Given the description of an element on the screen output the (x, y) to click on. 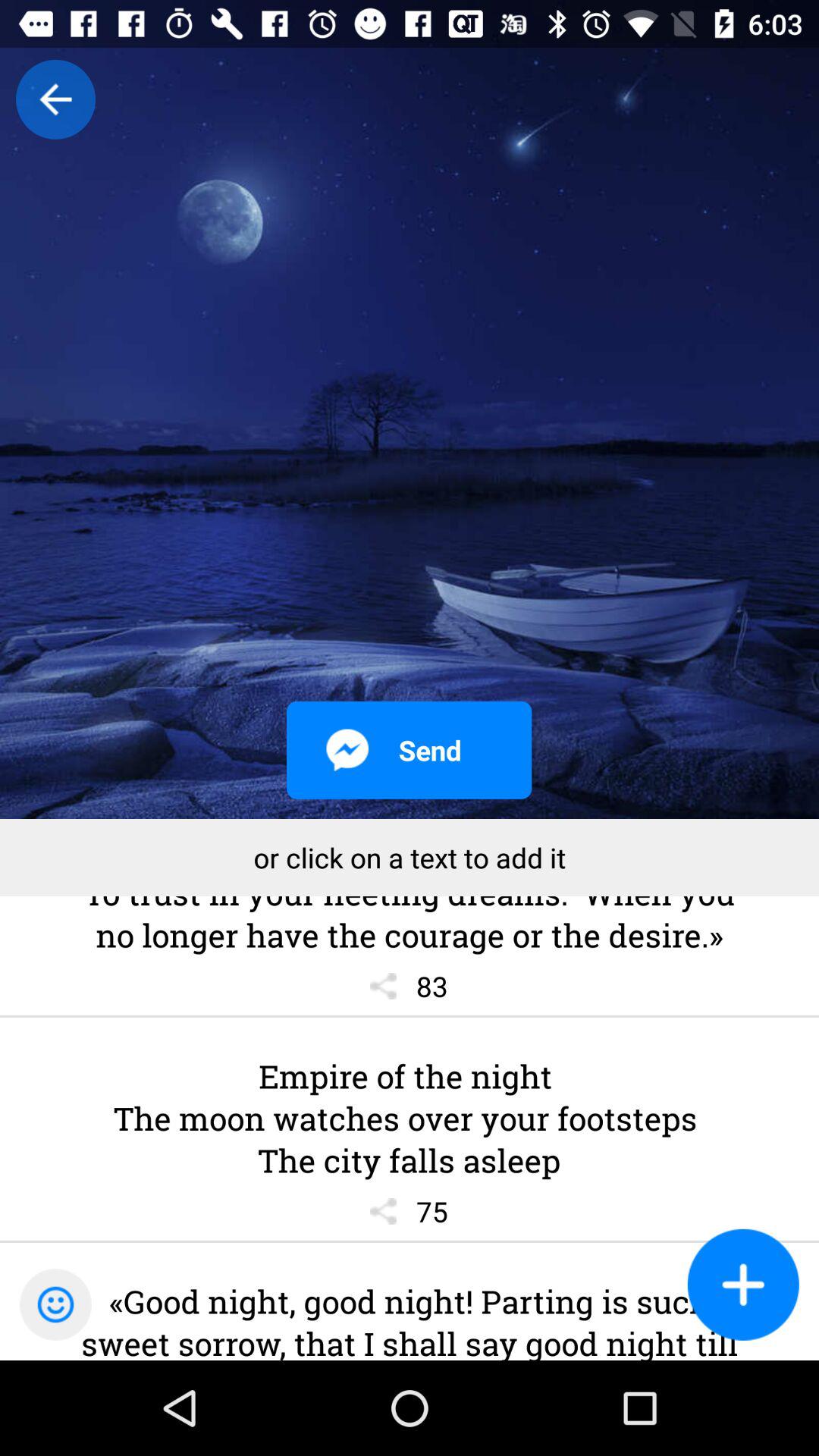
click the button on the bottom right corner of the web page (743, 1284)
click on back arow on the top left corner of the web page (55, 99)
